Given the description of an element on the screen output the (x, y) to click on. 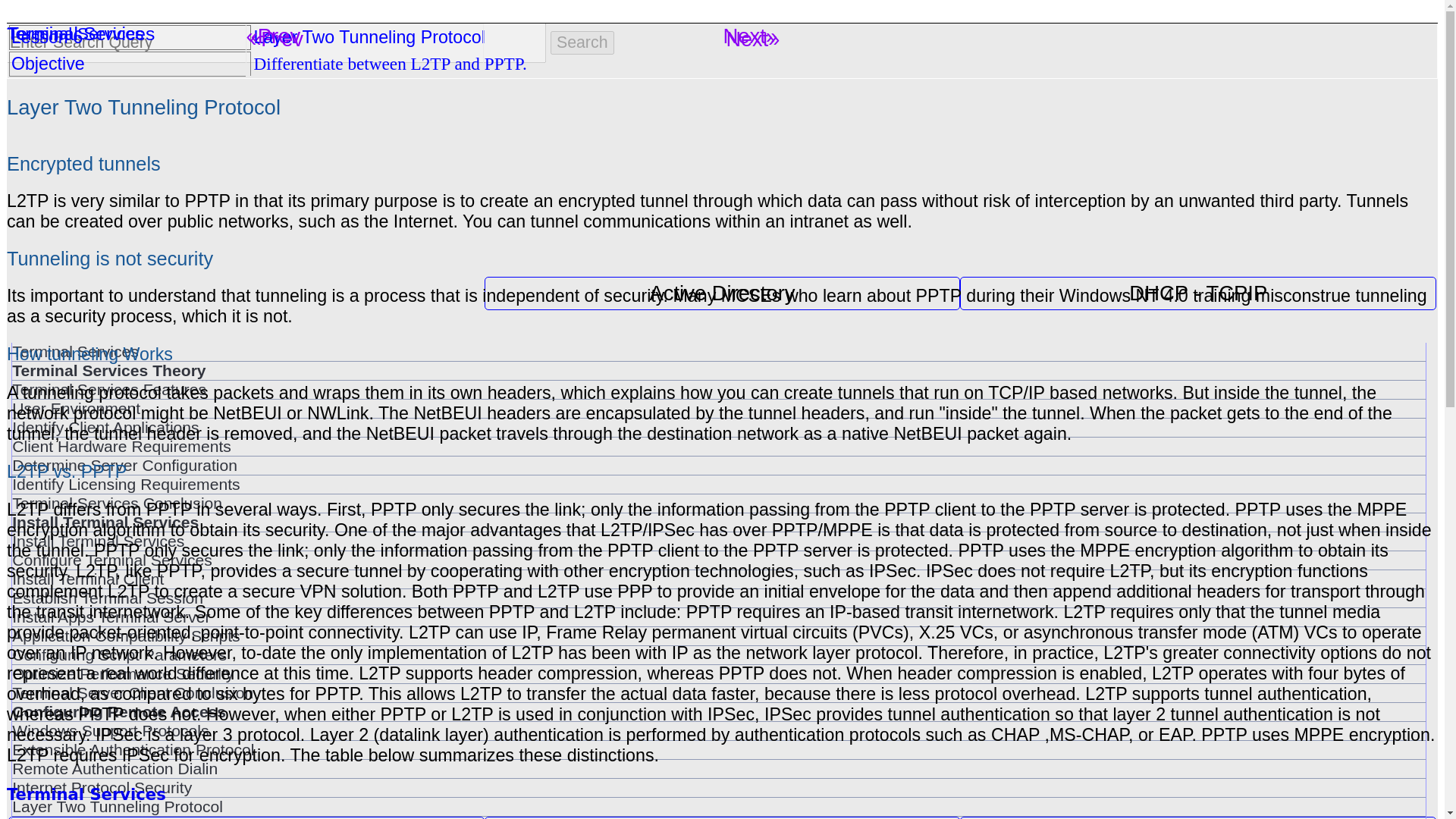
Install Terminal Services (718, 541)
User Environment (718, 408)
Identify Client Applications (718, 427)
Terminal Services Theory (718, 370)
Remote Authentication Dialin (718, 769)
Extensible Authentication Protocol (718, 750)
Install Terminal Services (718, 522)
Terminal Server Client Conclusion (718, 692)
Install Apps Terminal Server (718, 617)
Active Directory (721, 293)
Establish Terminal Session (718, 597)
Optimize Performance Security (718, 674)
Search (582, 42)
